Given the description of an element on the screen output the (x, y) to click on. 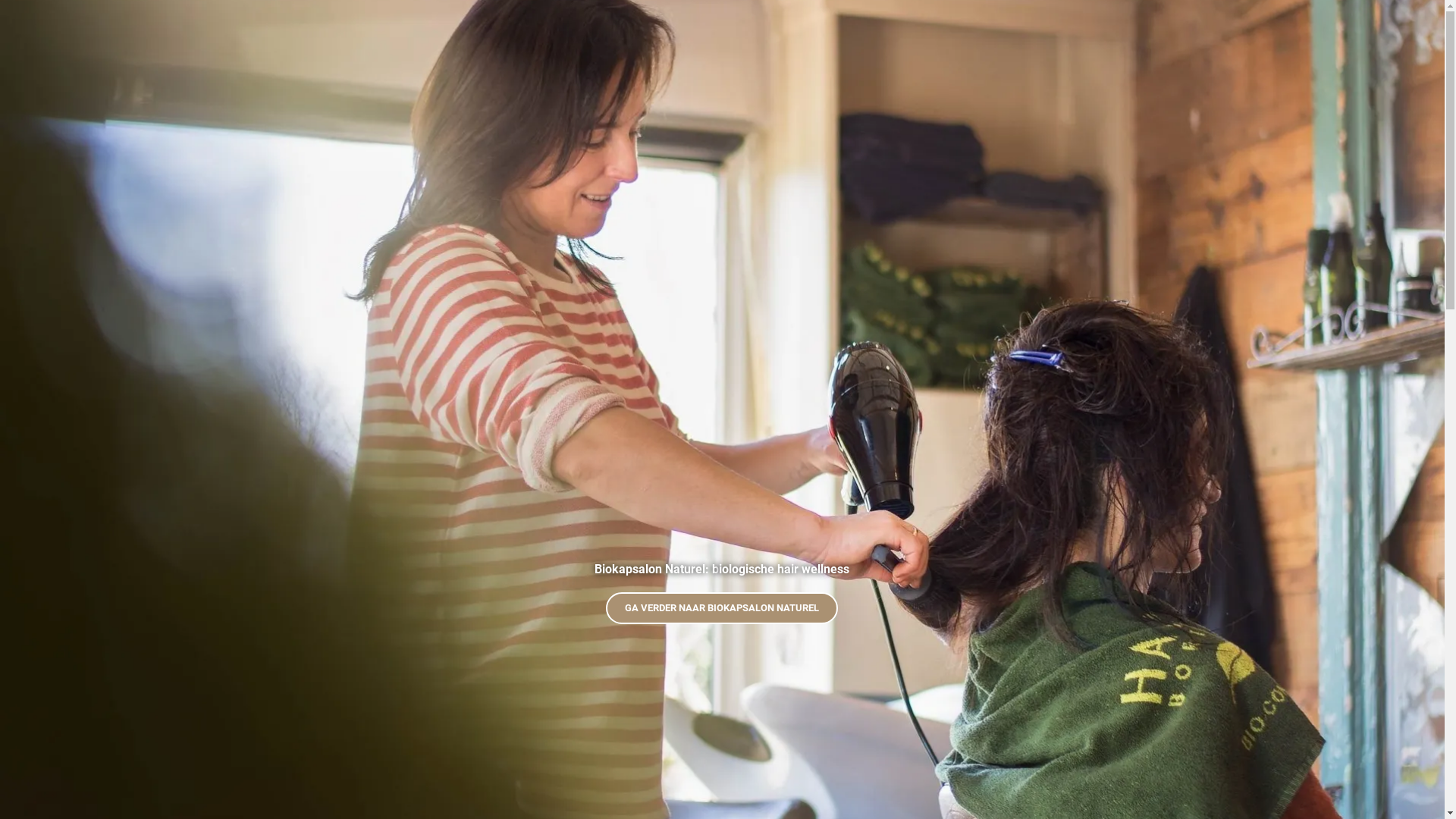
GA VERDER NAAR BIOKAPSALON NATUREL Element type: text (721, 608)
